Given the description of an element on the screen output the (x, y) to click on. 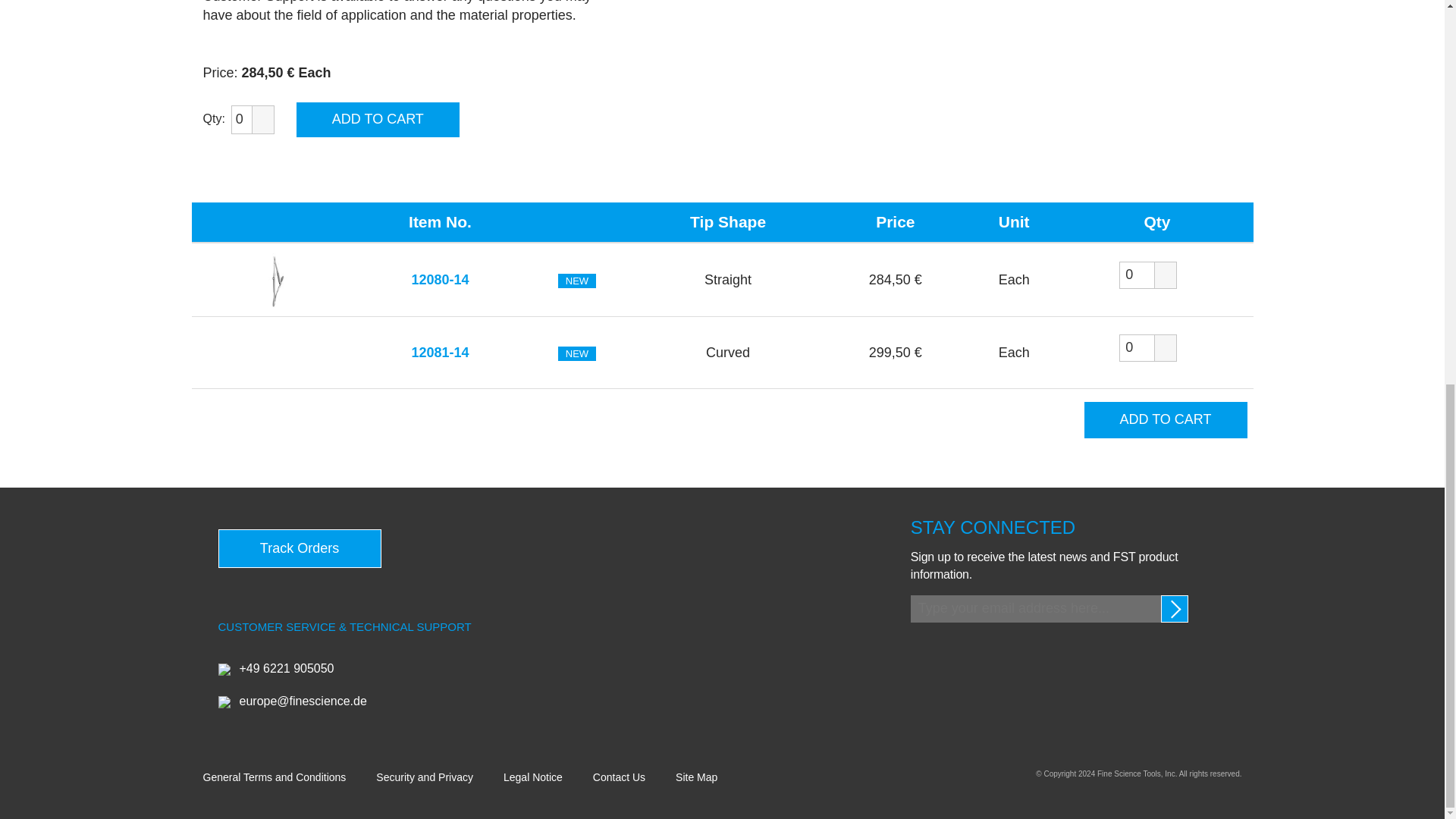
Add to Cart (378, 119)
0 (1136, 347)
0 (248, 119)
0 (1136, 275)
New (576, 353)
New (576, 280)
Add to Cart (1165, 420)
